Given the description of an element on the screen output the (x, y) to click on. 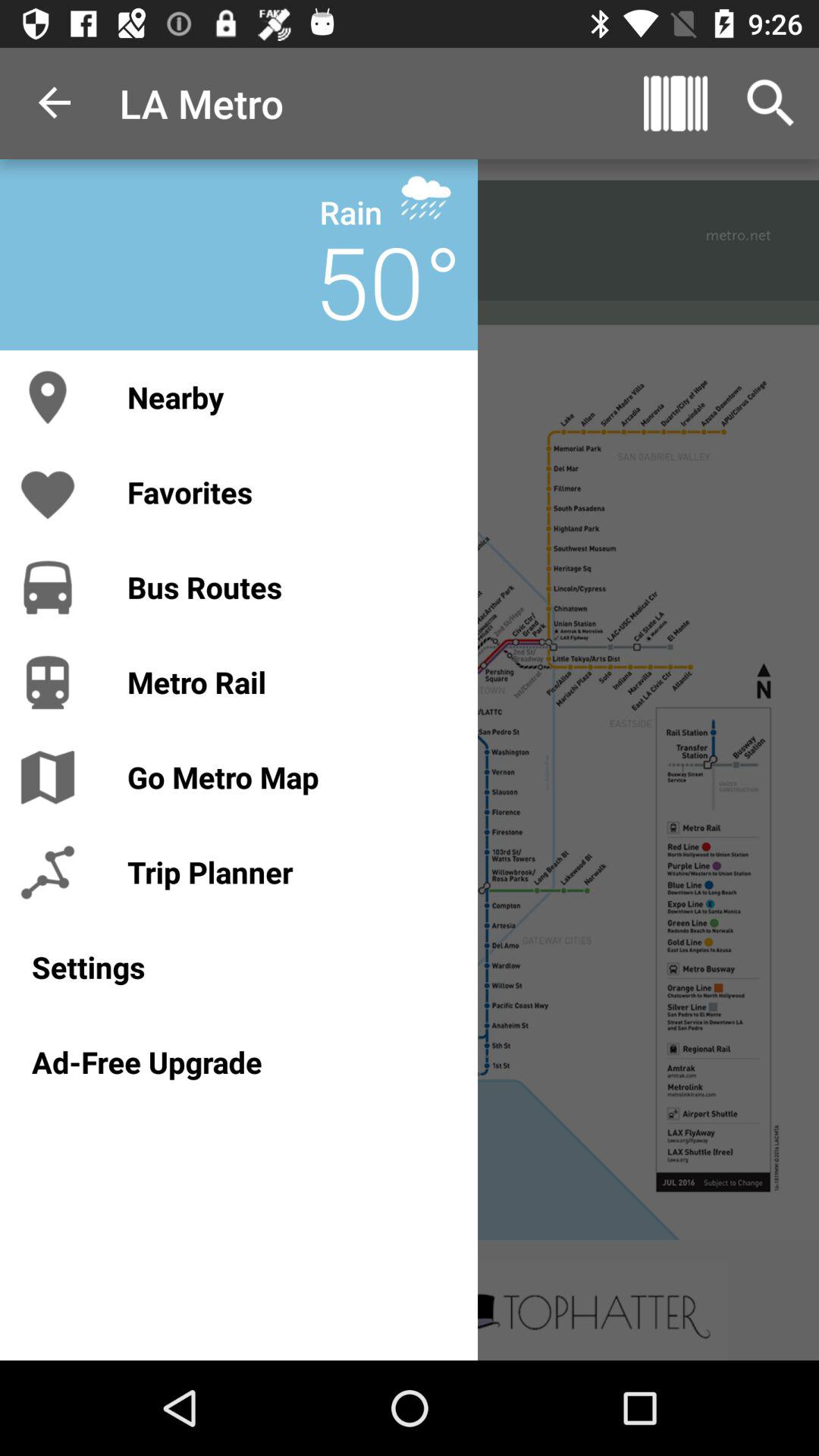
swipe to ad-free upgrade icon (238, 1061)
